Given the description of an element on the screen output the (x, y) to click on. 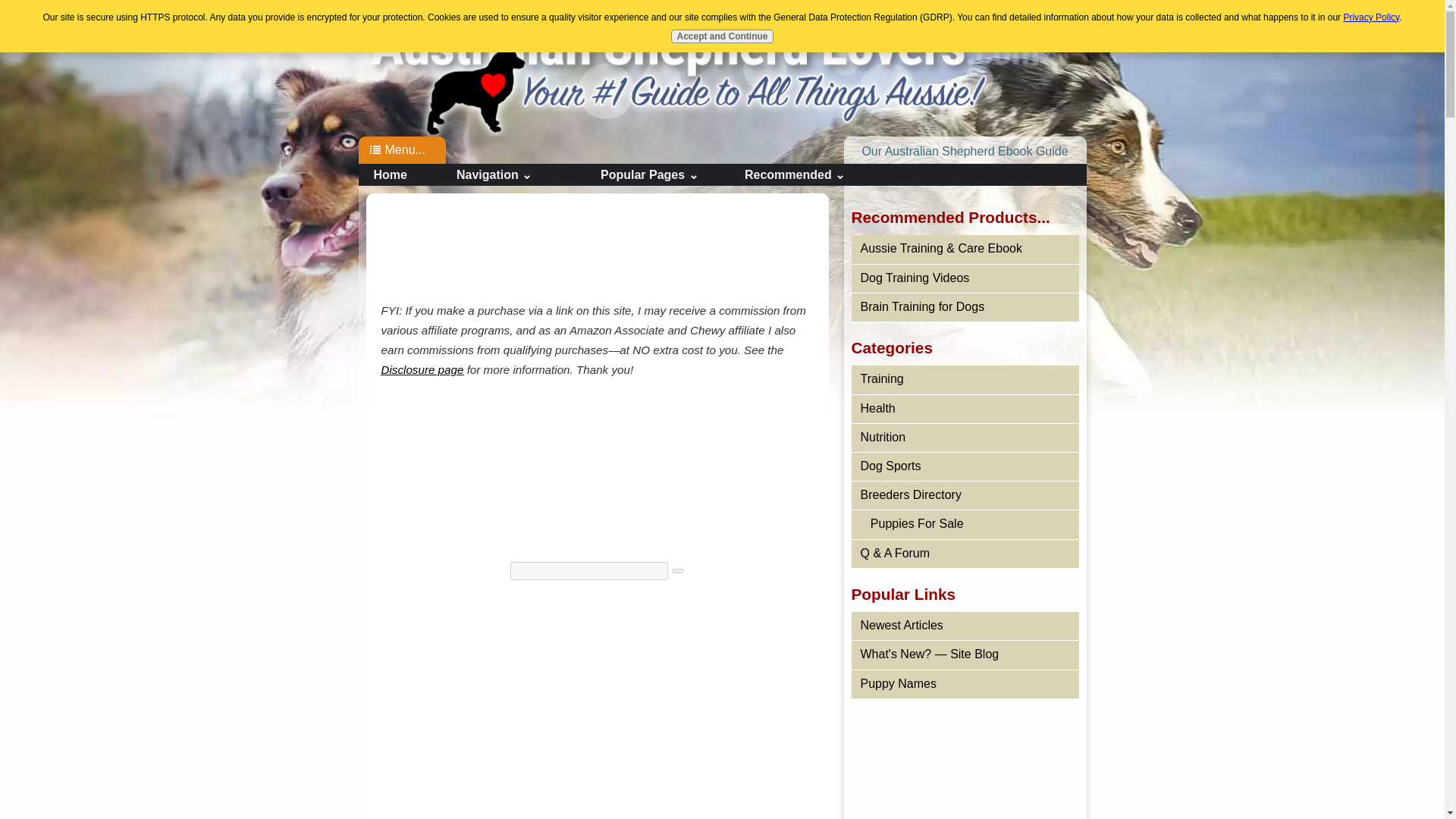
Our Australian Shepherd Ebook Guide (964, 151)
Home (668, 66)
Menu... (411, 149)
Home          (403, 174)
  Home (668, 66)
